Given the description of an element on the screen output the (x, y) to click on. 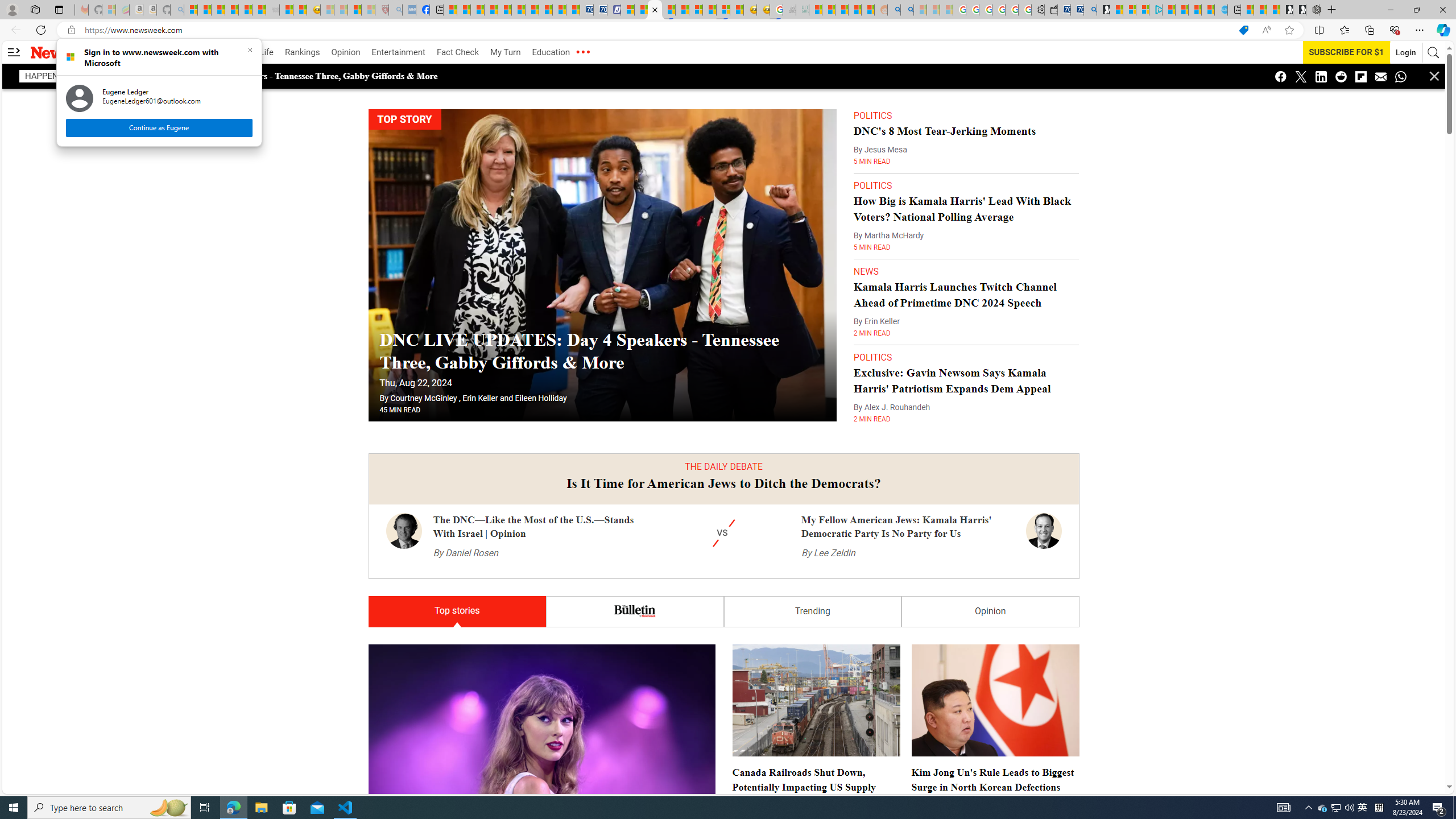
Fact Check (457, 52)
